Given the description of an element on the screen output the (x, y) to click on. 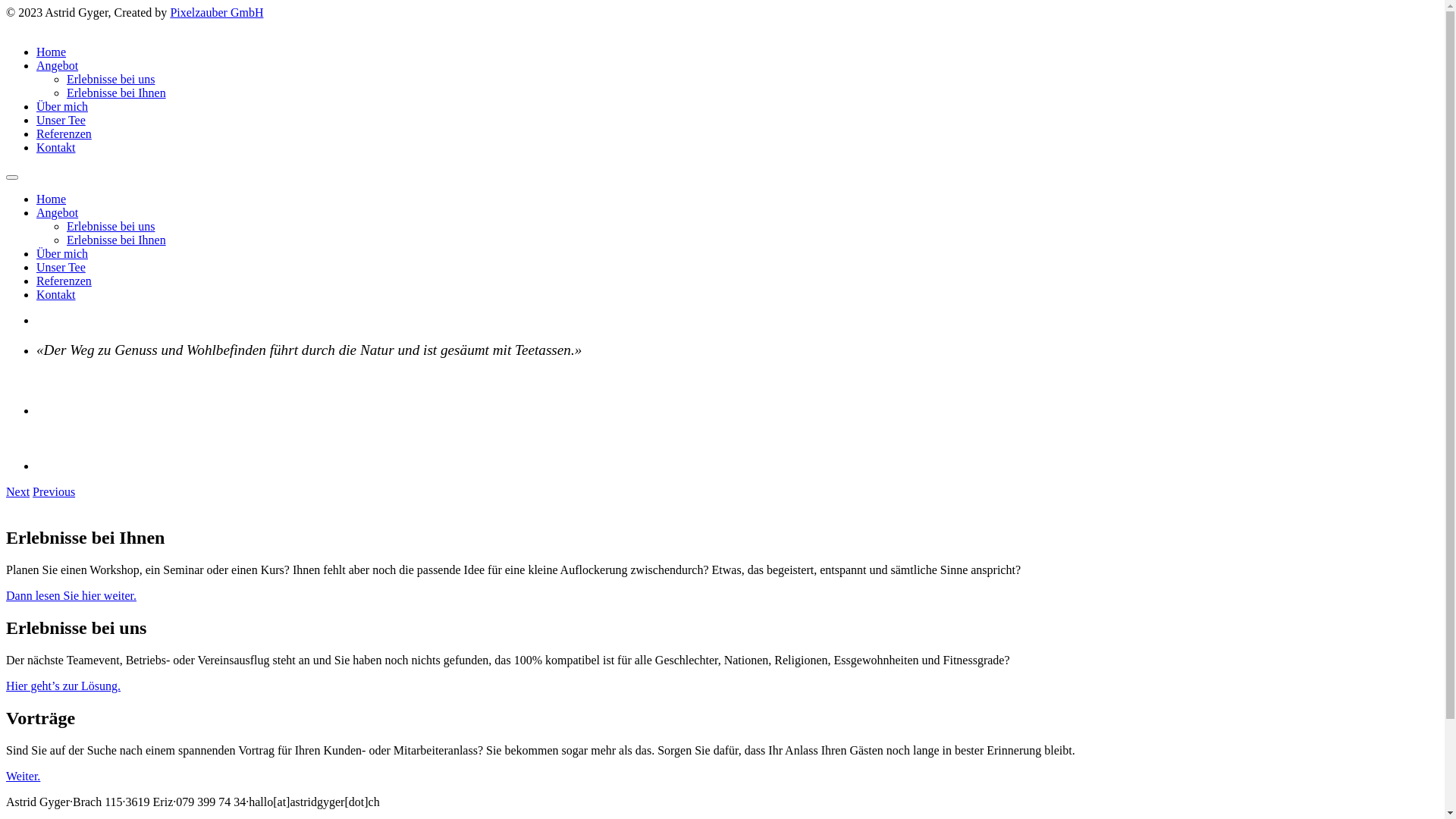
Unser Tee Element type: text (60, 119)
Weiter. Element type: text (23, 775)
Referenzen Element type: text (63, 280)
Pixelzauber GmbH Element type: text (216, 12)
Unser Tee Element type: text (60, 266)
Angebot Element type: text (57, 65)
Next Element type: text (17, 491)
Angebot Element type: text (57, 212)
Previous Element type: text (53, 491)
Erlebnisse bei uns Element type: text (110, 78)
Kontakt Element type: text (55, 147)
Erlebnisse bei uns Element type: text (110, 225)
Erlebnisse bei Ihnen Element type: text (116, 239)
Dann lesen Sie hier weiter. Element type: text (71, 595)
Home Element type: text (50, 51)
Erlebnisse bei Ihnen Element type: text (116, 92)
Home Element type: text (50, 198)
Kontakt Element type: text (55, 294)
Referenzen Element type: text (63, 133)
